Given the description of an element on the screen output the (x, y) to click on. 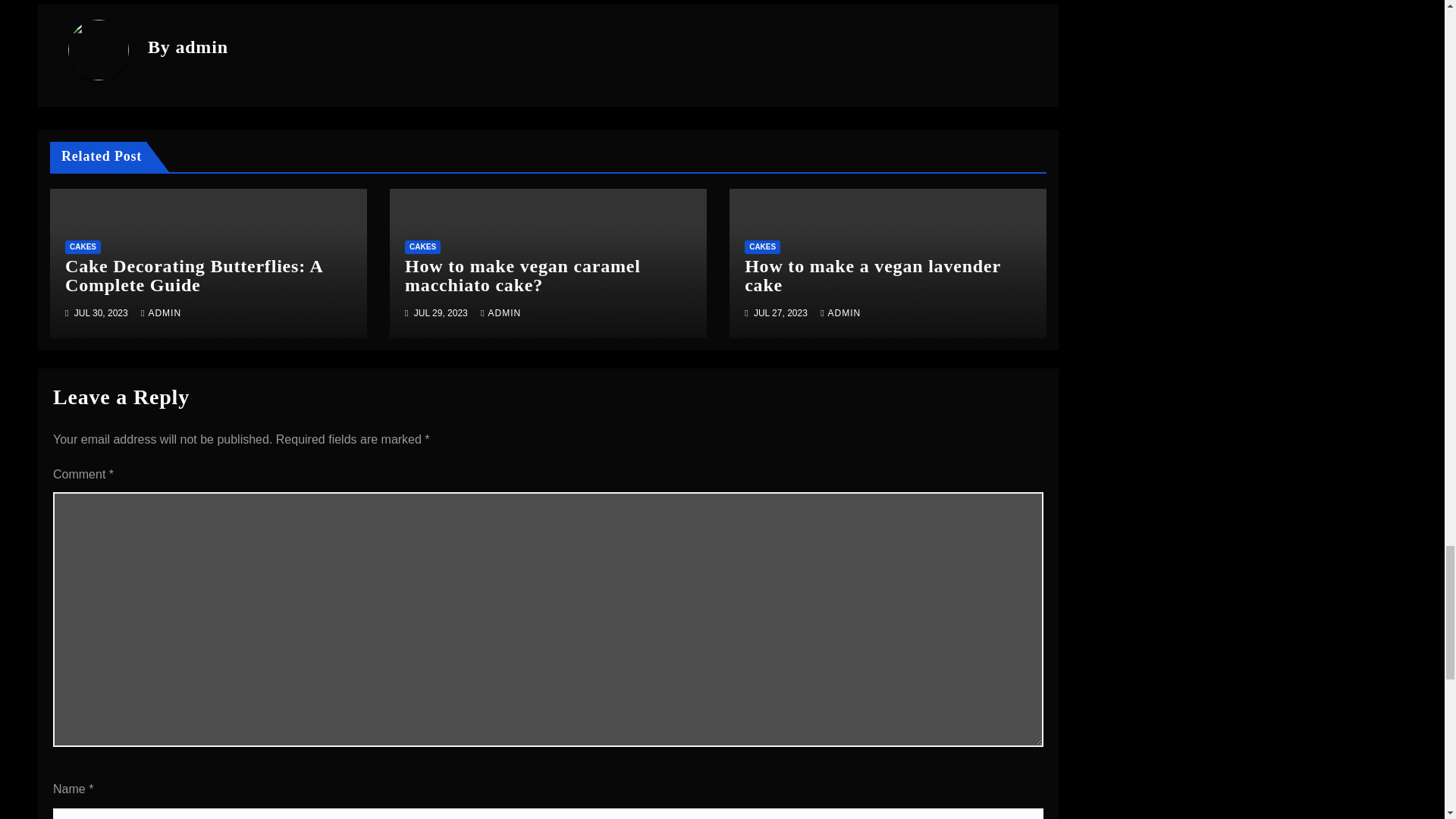
CAKES (762, 246)
CAKES (422, 246)
Permalink to: How to make a vegan lavender cake (872, 275)
admin (200, 46)
CAKES (82, 246)
Cake Decorating Butterflies: A Complete Guide (193, 275)
How to make vegan caramel macchiato cake? (522, 275)
ADMIN (840, 312)
How to make a vegan lavender cake (872, 275)
ADMIN (160, 312)
Permalink to: How to make vegan caramel macchiato cake? (522, 275)
Permalink to: Cake Decorating Butterflies: A Complete Guide (193, 275)
ADMIN (500, 312)
